Given the description of an element on the screen output the (x, y) to click on. 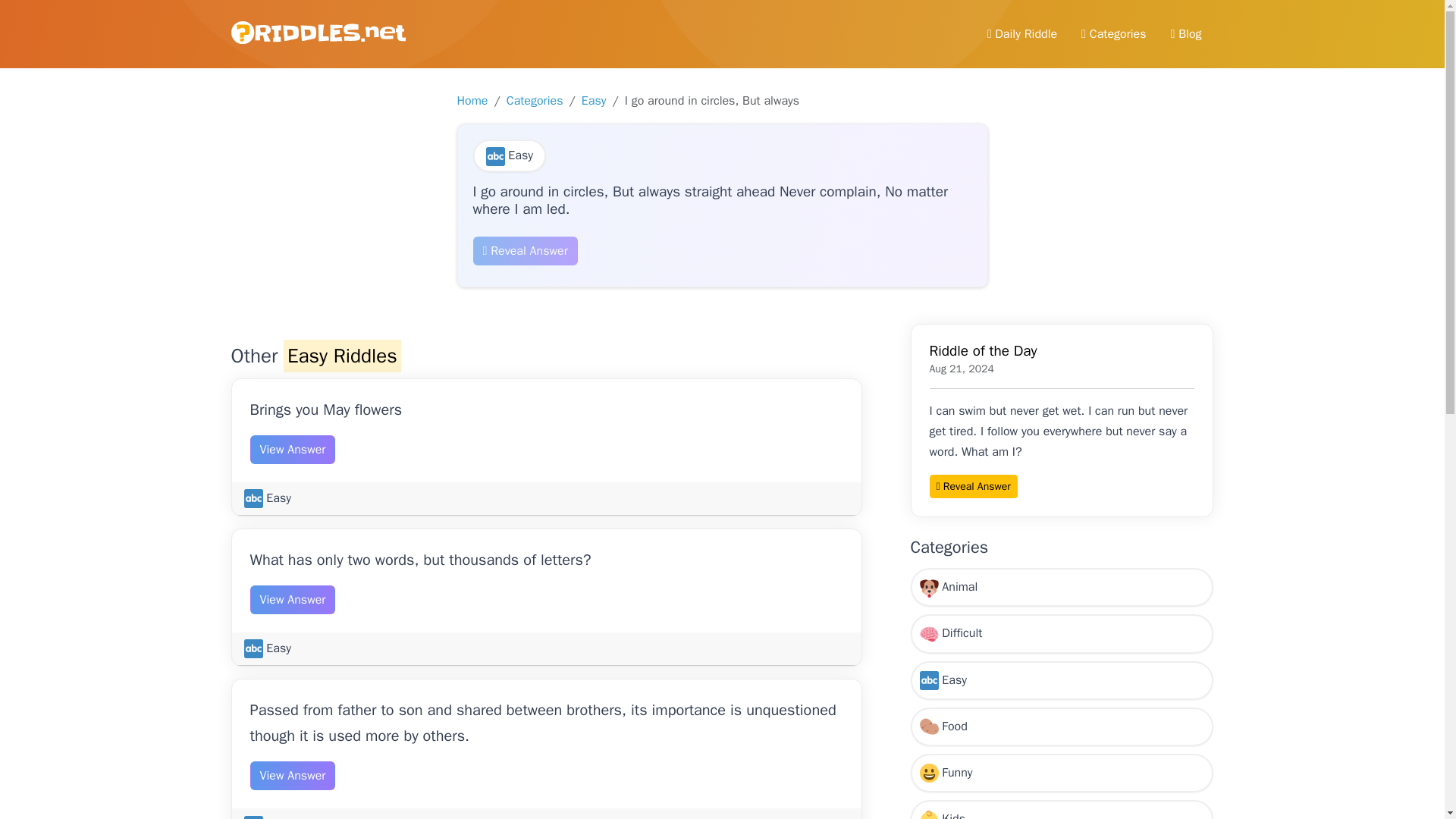
What has only two words, but thousands of letters? (420, 559)
Funny (1061, 772)
Easy (267, 498)
Easy Riddles (342, 355)
Animal (1061, 587)
Food (1061, 726)
Riddle of the Day (983, 351)
Easy (1061, 680)
Home (472, 100)
